Given the description of an element on the screen output the (x, y) to click on. 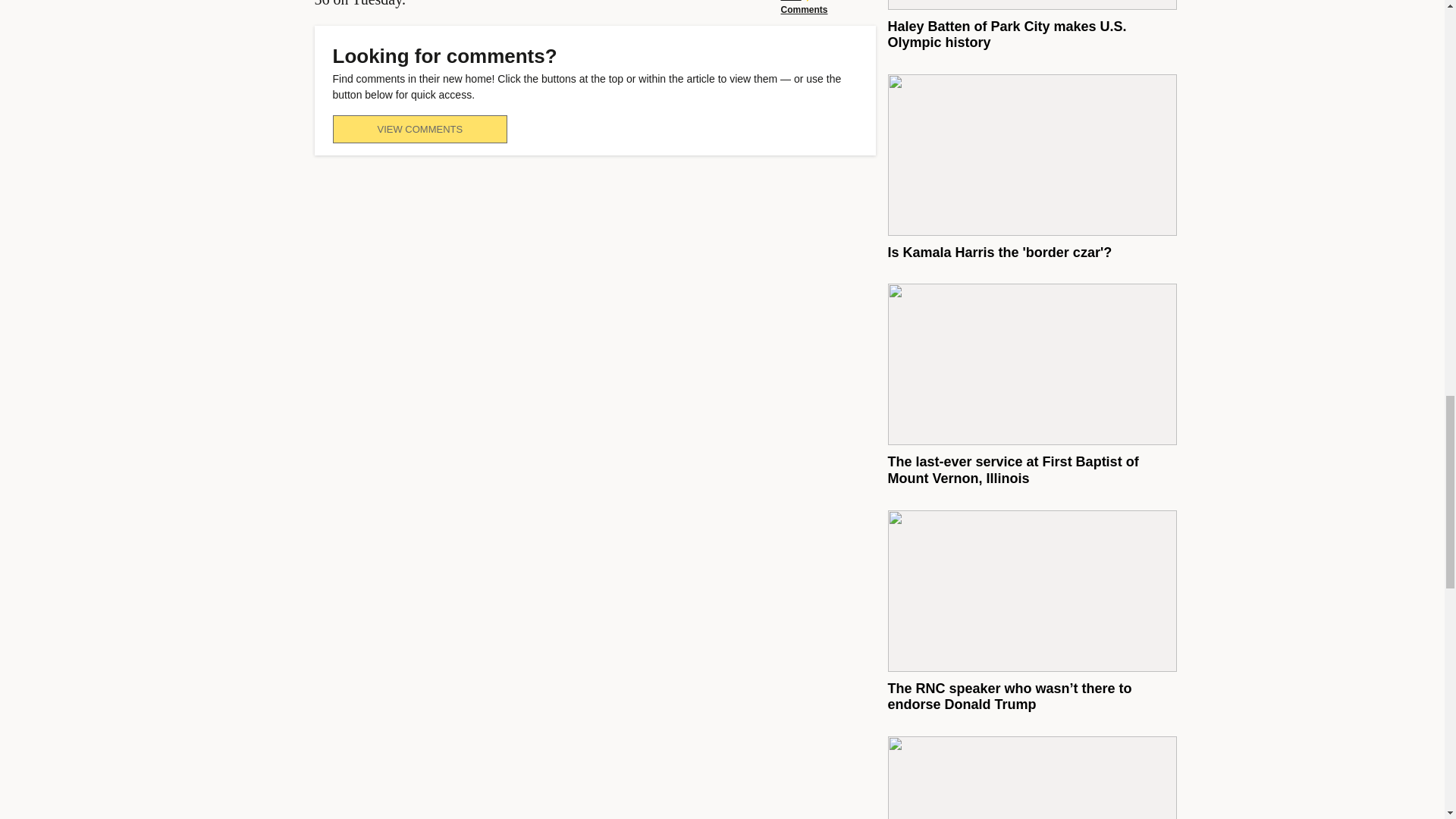
Is Kamala Harris the 'border czar'? (999, 252)
Haley Batten of Park City makes U.S. Olympic history (1005, 34)
VIEW COMMENTS (418, 129)
